Given the description of an element on the screen output the (x, y) to click on. 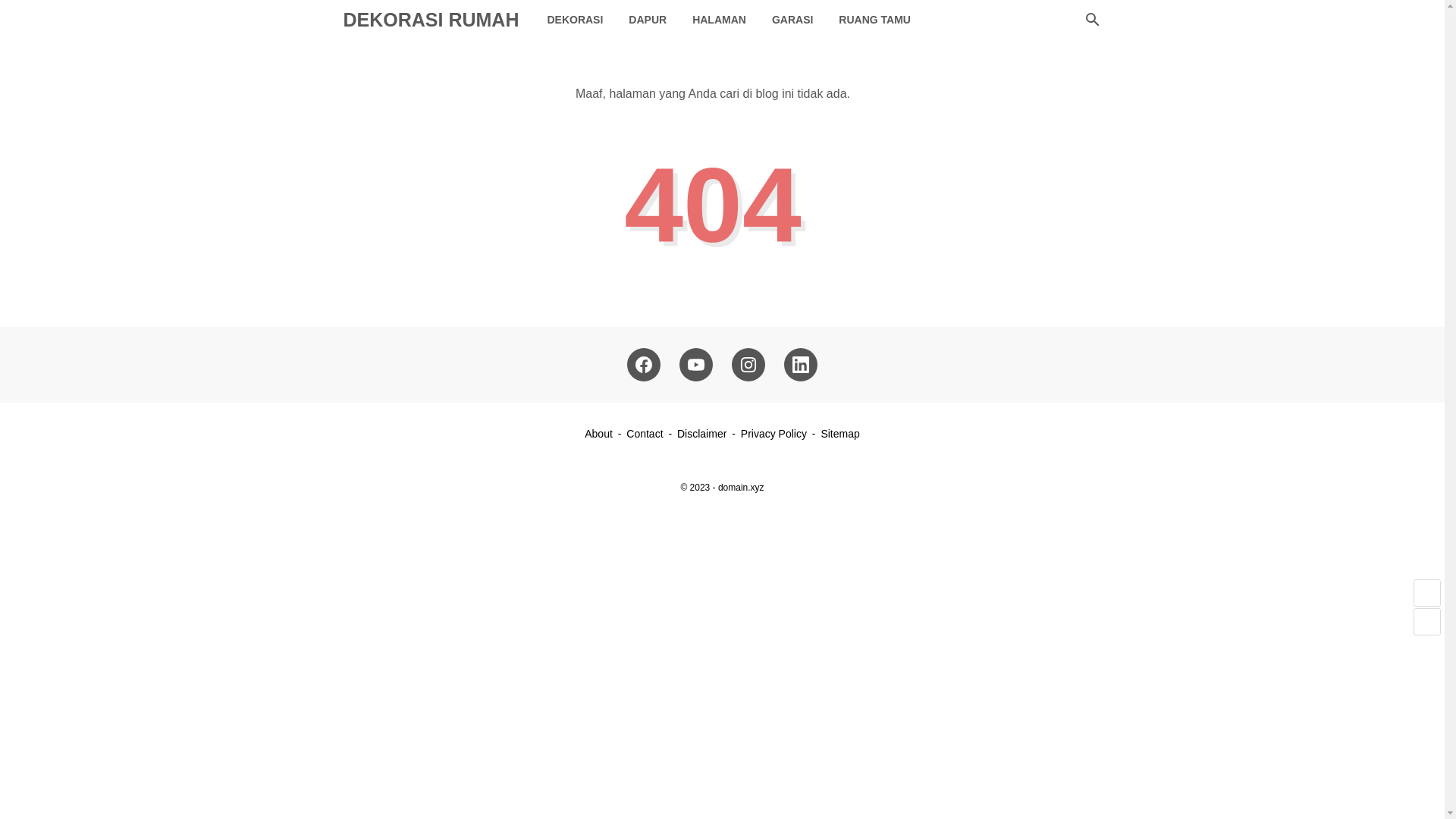
HALAMAN (718, 19)
About (598, 433)
RUANG TAMU (874, 19)
Privacy Policy (773, 433)
DEKORASI (574, 19)
Disclaimer (701, 433)
Cari blog ini (1091, 19)
GARASI (791, 19)
Sitemap (840, 433)
DEKORASI RUMAH (430, 19)
DAPUR (647, 19)
DEKORASI RUMAH (430, 19)
Contact (644, 433)
